Given the description of an element on the screen output the (x, y) to click on. 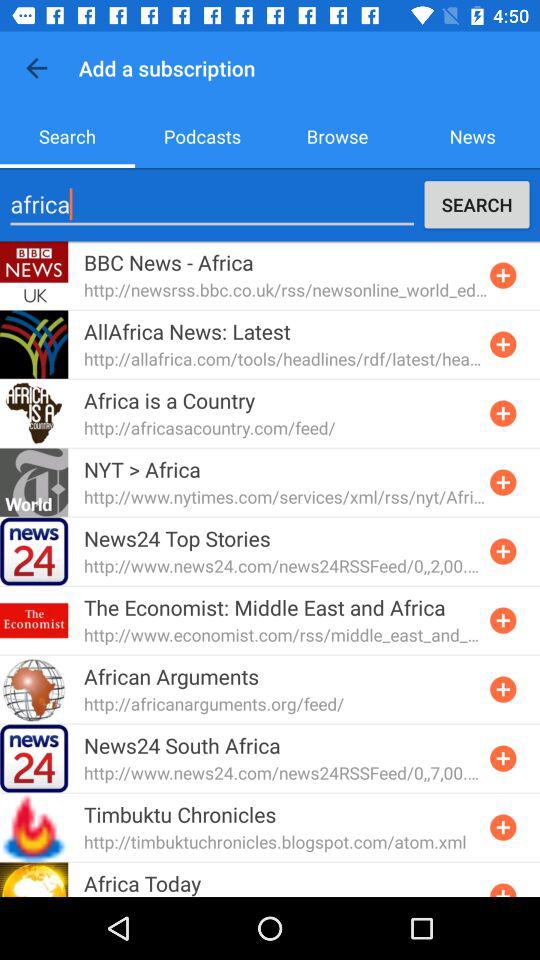
jump to africa today (142, 882)
